Given the description of an element on the screen output the (x, y) to click on. 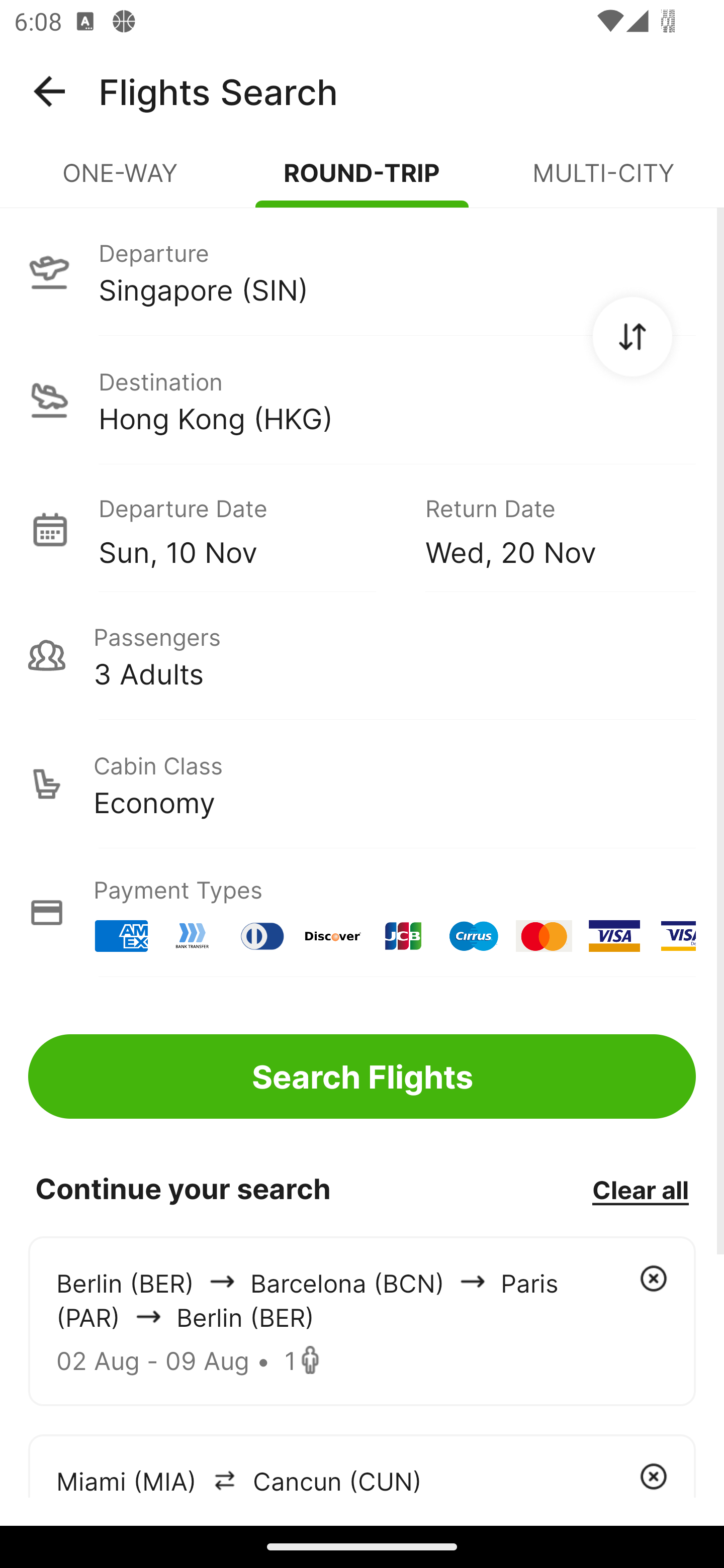
ONE-WAY (120, 180)
ROUND-TRIP (361, 180)
MULTI-CITY (603, 180)
Departure Singapore (SIN) (362, 270)
Destination Hong Kong (HKG) (362, 400)
Departure Date Sun, 10 Nov (247, 528)
Return Date Wed, 20 Nov (546, 528)
Passengers 3 Adults (362, 655)
Cabin Class Economy (362, 783)
Payment Types (362, 912)
Search Flights (361, 1075)
Clear all (640, 1189)
Miami (MIA)  arrowIcon  Cancun (CUN) (361, 1465)
